Given the description of an element on the screen output the (x, y) to click on. 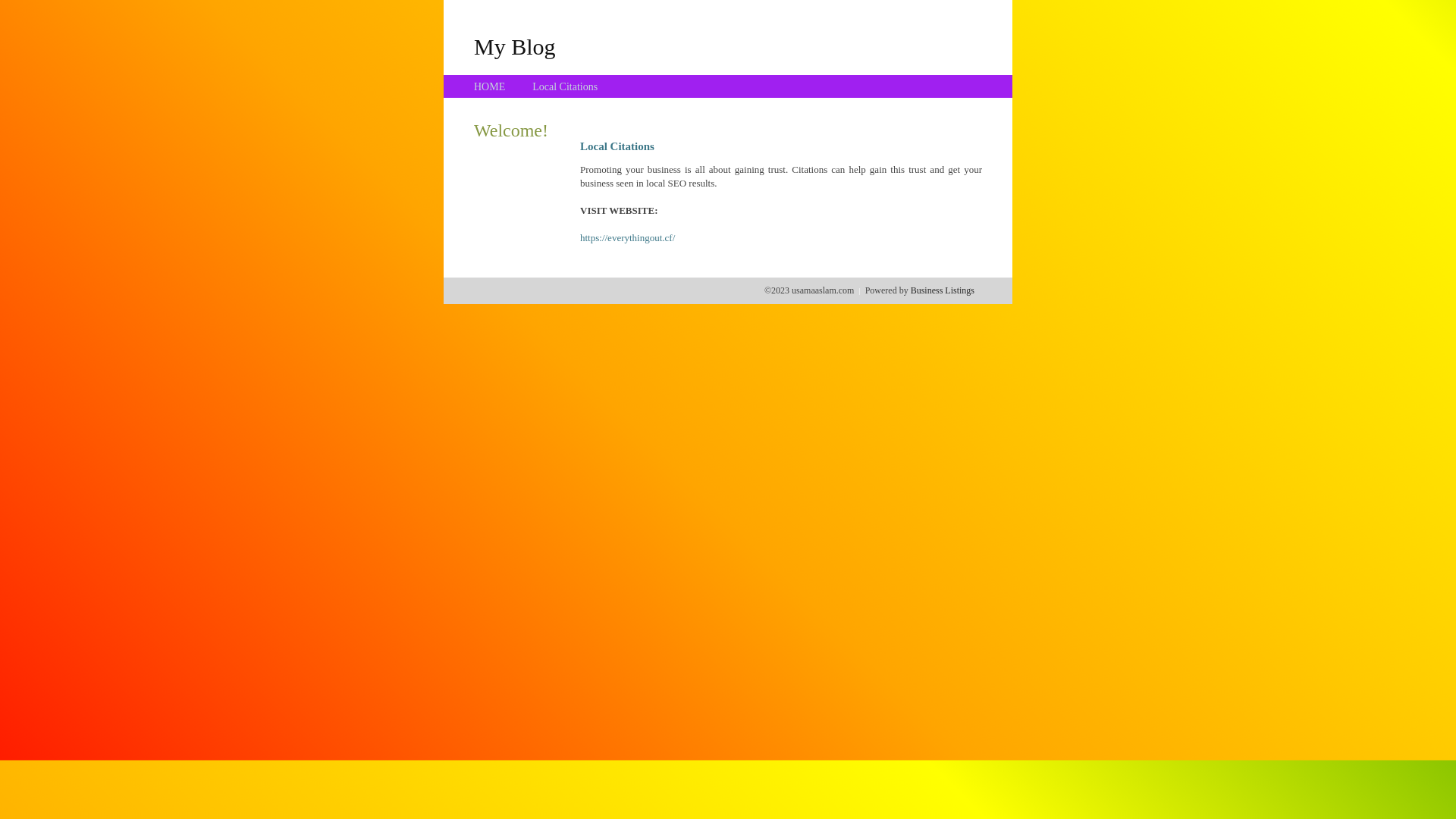
Local Citations Element type: text (564, 86)
My Blog Element type: text (514, 46)
Business Listings Element type: text (942, 290)
HOME Element type: text (489, 86)
https://everythingout.cf/ Element type: text (627, 237)
